Given the description of an element on the screen output the (x, y) to click on. 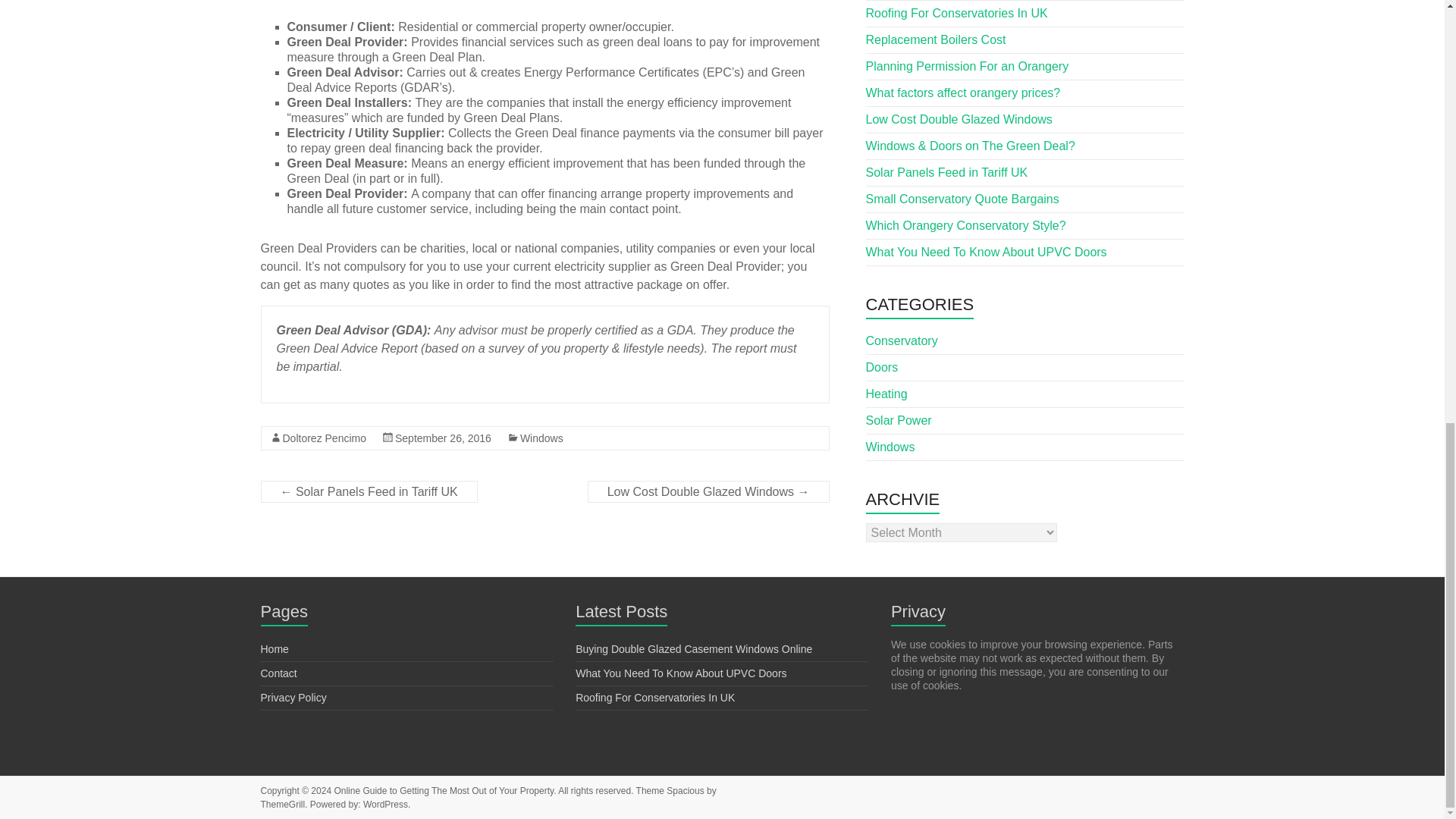
Buying Double Glazed Casement Windows Online (693, 648)
Contact (278, 673)
Roofing For Conservatories In UK (655, 697)
Planning Permission For an Orangery (967, 65)
Conservatory (901, 339)
What You Need To Know About UPVC Doors (986, 251)
11:59 am (443, 438)
WordPress (384, 804)
Doors (882, 367)
Home (274, 648)
